Given the description of an element on the screen output the (x, y) to click on. 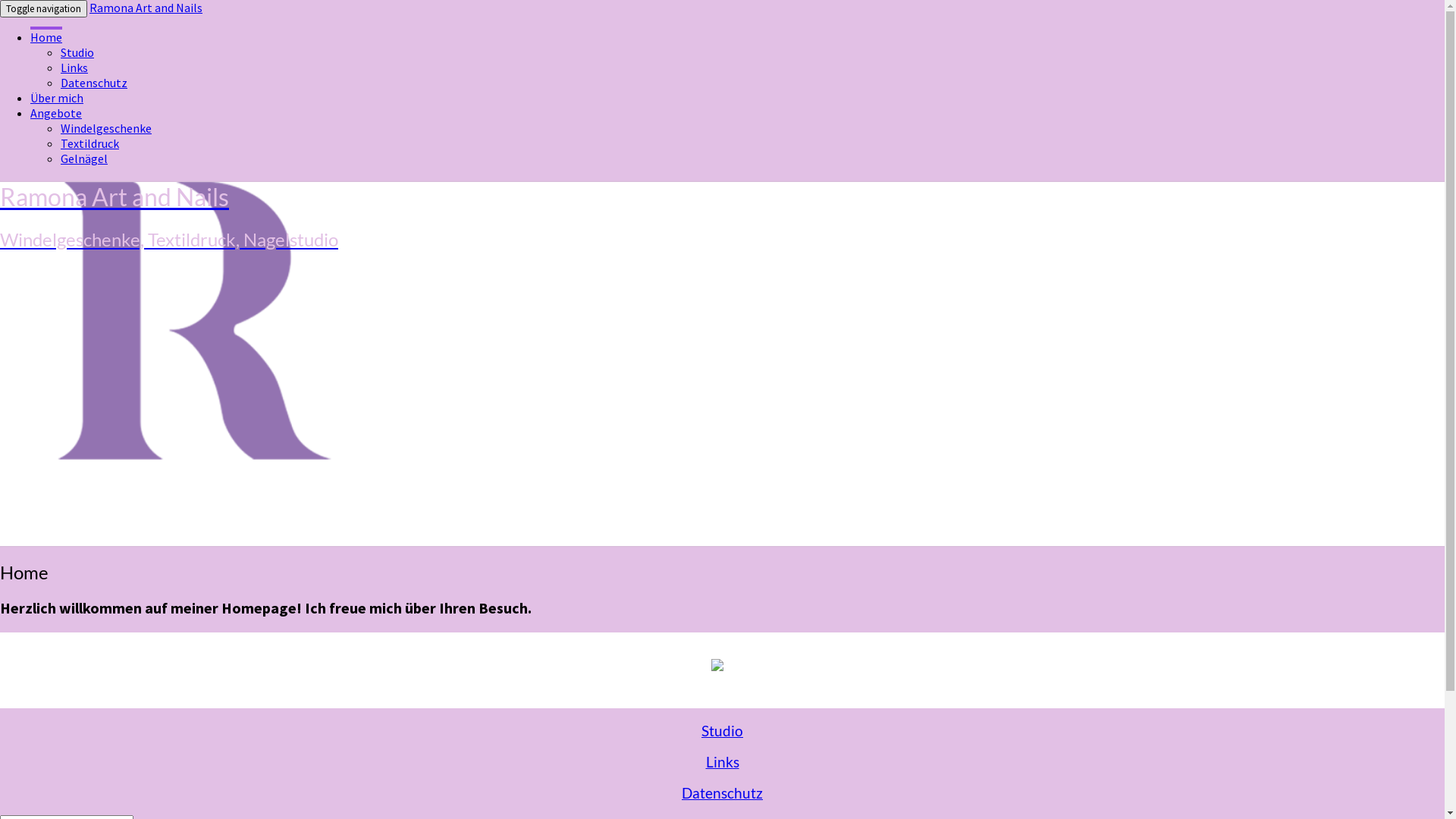
Links Element type: text (721, 761)
Studio Element type: text (722, 730)
Ramona Art and Nails Element type: text (145, 7)
Windelgeschenke Element type: text (105, 127)
Datenschutz Element type: text (721, 792)
Studio Element type: text (77, 51)
Links Element type: text (73, 67)
Datenschutz Element type: text (93, 82)
Home Element type: text (46, 35)
Toggle navigation Element type: text (43, 8)
Textildruck Element type: text (89, 142)
Angebote Element type: text (55, 112)
